Given the description of an element on the screen output the (x, y) to click on. 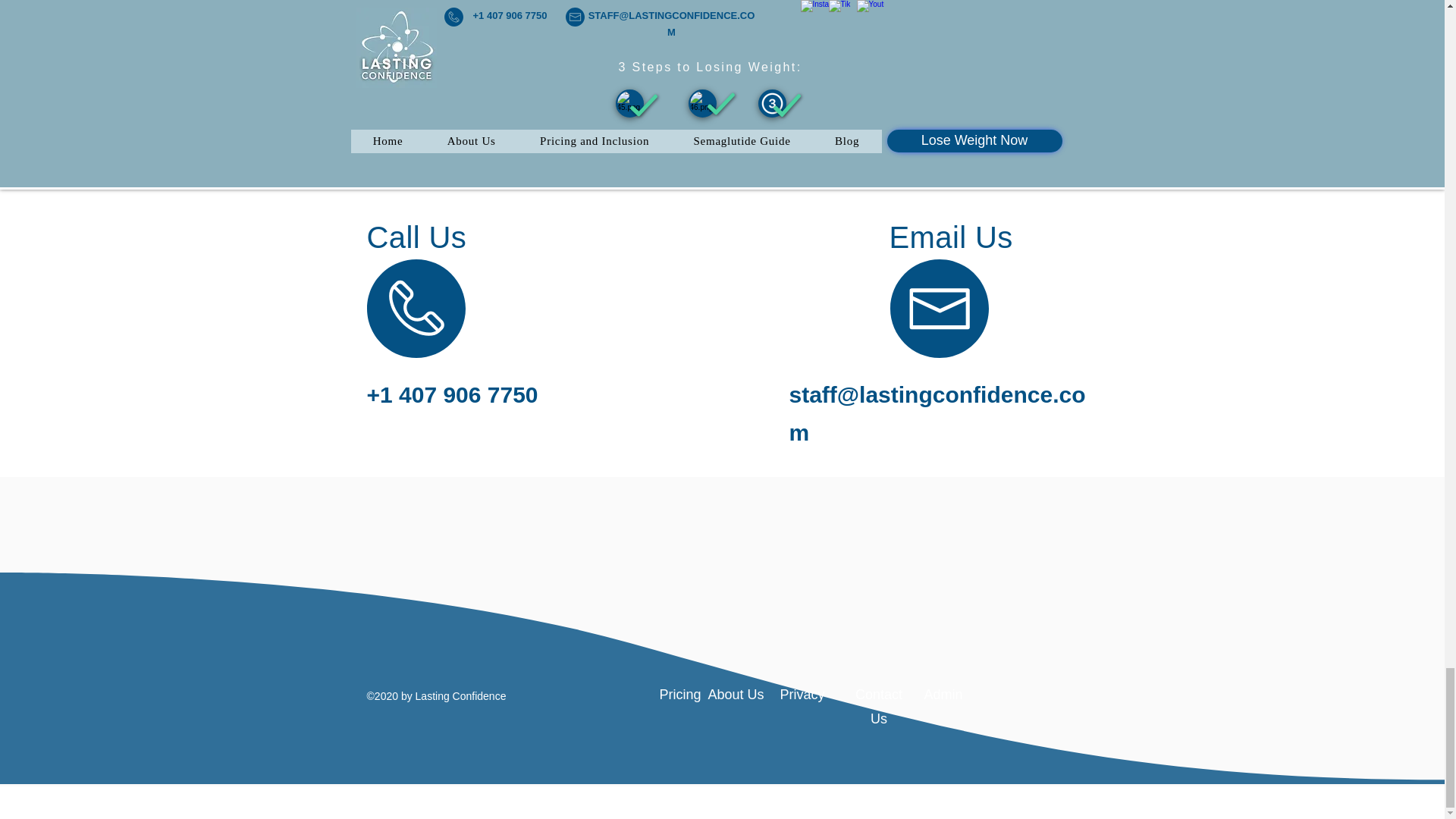
Post not marked as liked (995, 74)
Pricing (680, 694)
About Us (735, 694)
Admin (942, 694)
Contact Us (879, 706)
Privacy (801, 694)
